Given the description of an element on the screen output the (x, y) to click on. 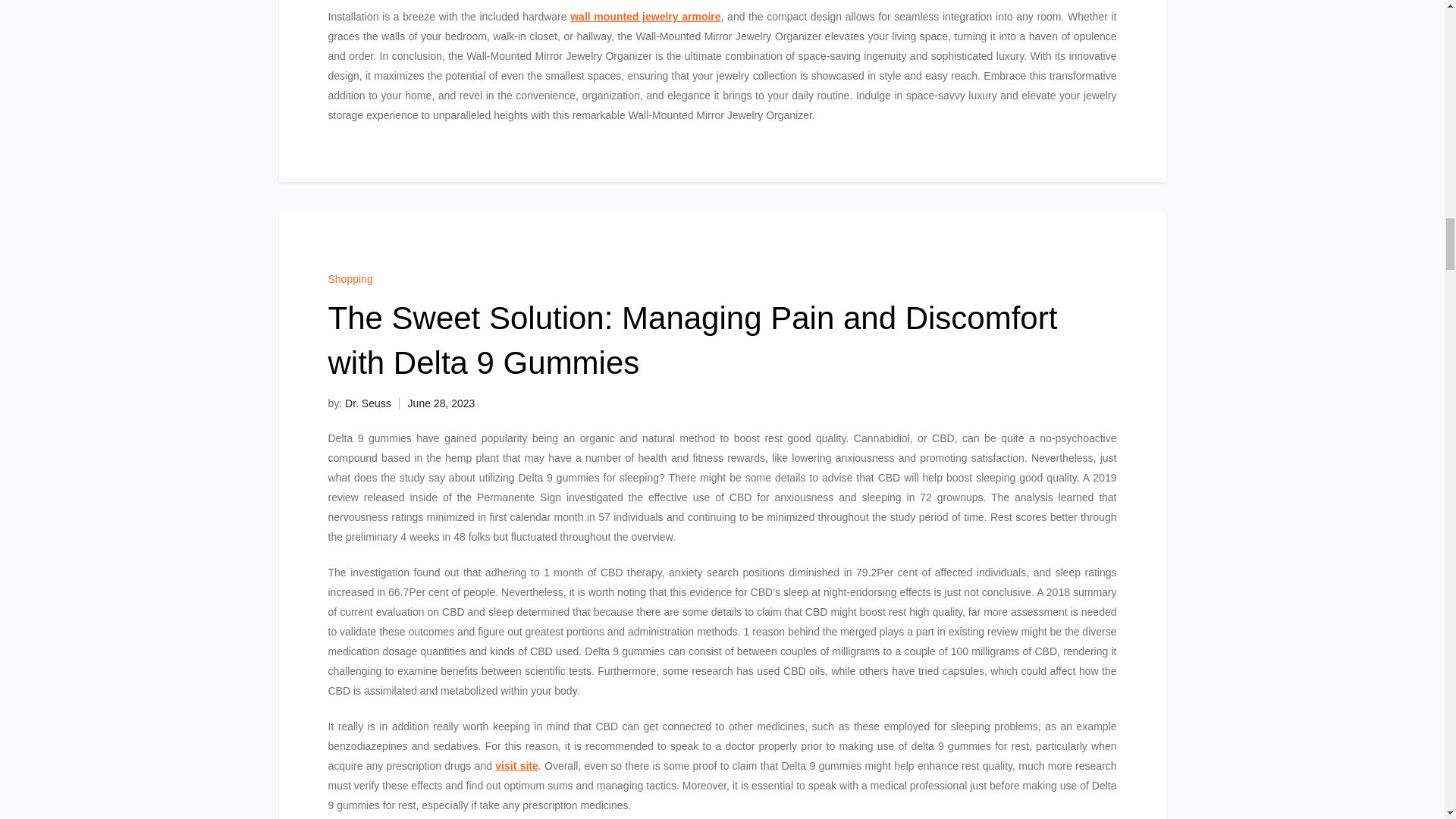
Shopping (349, 278)
Dr. Seuss (368, 403)
visit site (516, 766)
June 28, 2023 (441, 403)
wall mounted jewelry armoire (645, 16)
